Given the description of an element on the screen output the (x, y) to click on. 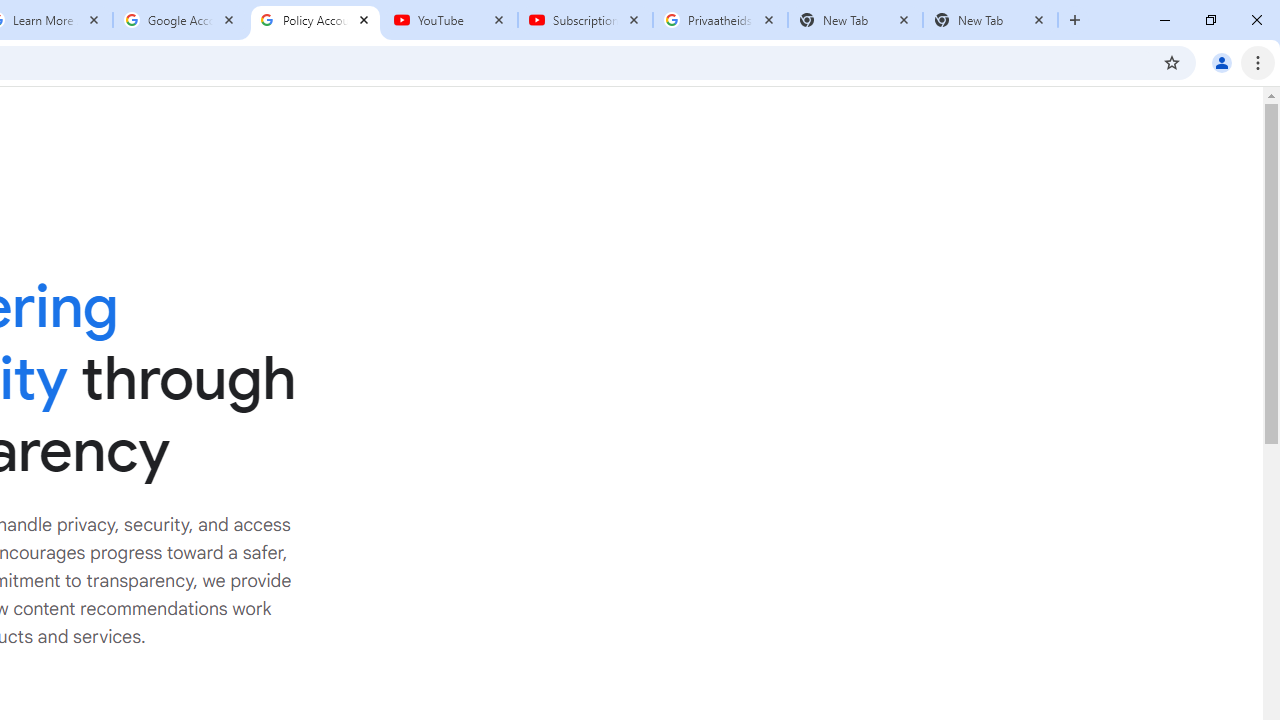
Google Account (180, 20)
YouTube (450, 20)
New Tab (990, 20)
Subscriptions - YouTube (585, 20)
Policy Accountability and Transparency - Transparency Center (315, 20)
